Given the description of an element on the screen output the (x, y) to click on. 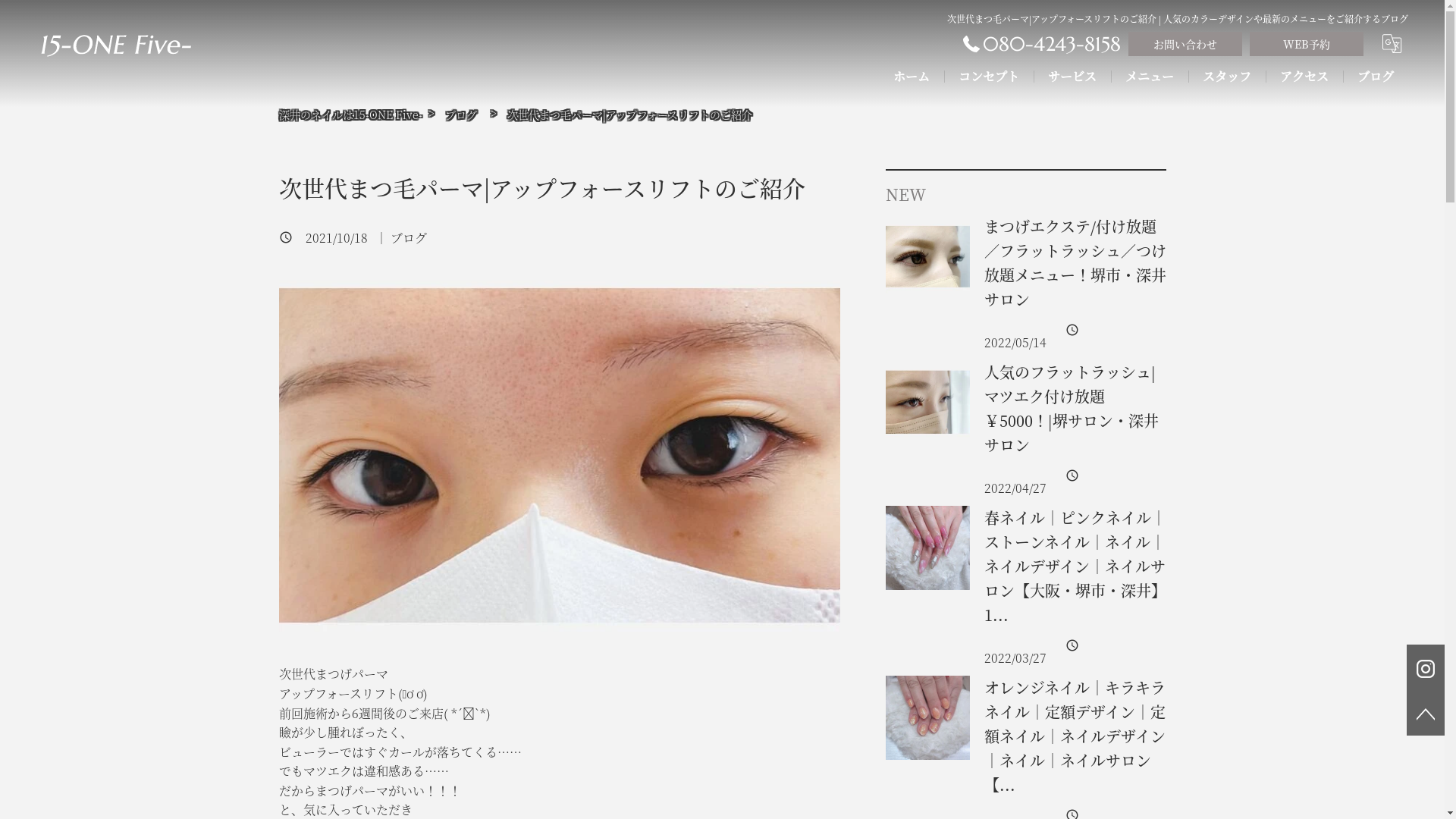
translate Element type: text (1395, 43)
